Given the description of an element on the screen output the (x, y) to click on. 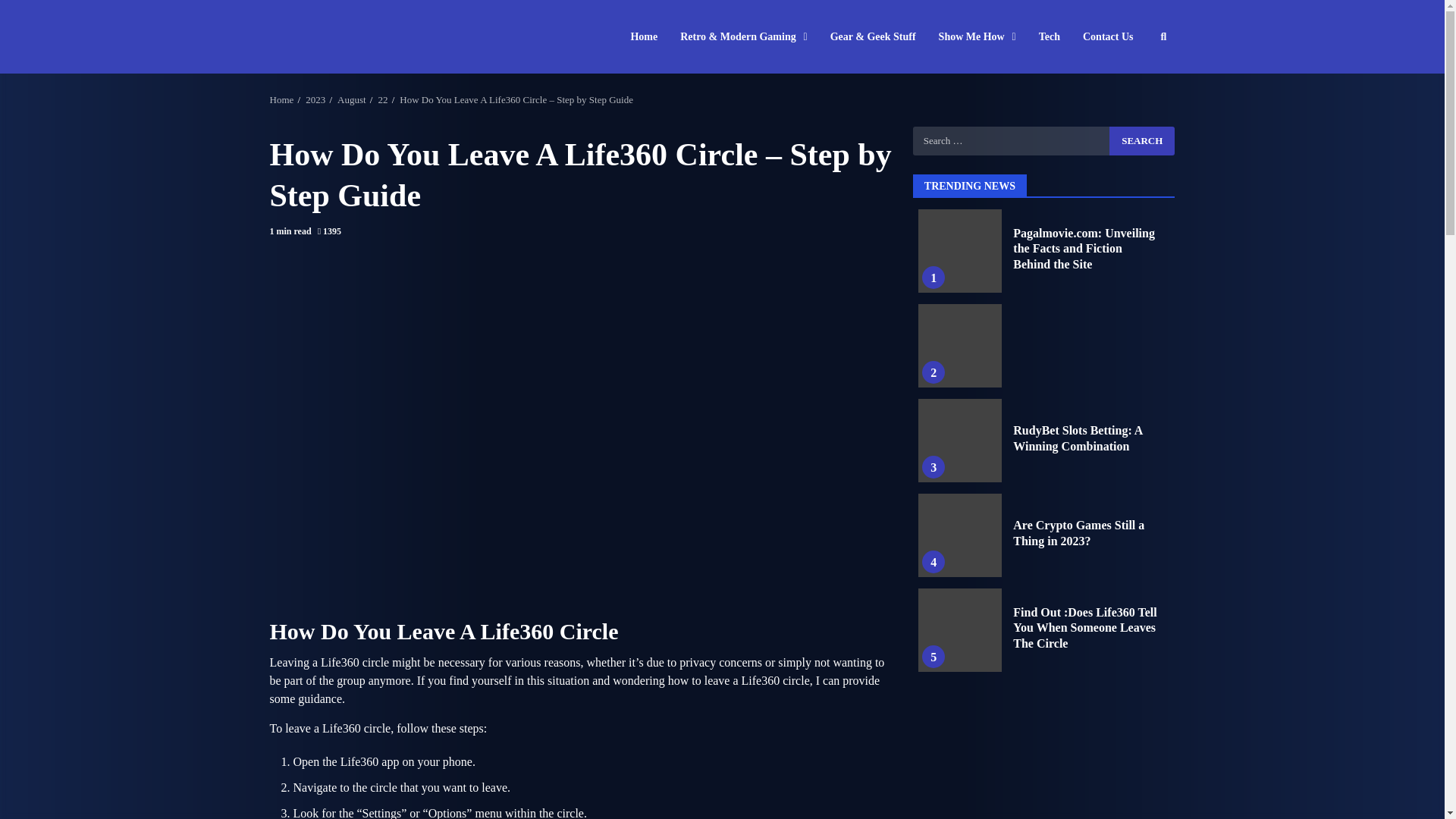
Home (281, 99)
August (351, 99)
Tech (1049, 36)
Home (649, 36)
Show Me How (977, 36)
Search (1135, 82)
2023 (314, 99)
Search (1141, 140)
Search (1141, 140)
1395 (328, 231)
